Given the description of an element on the screen output the (x, y) to click on. 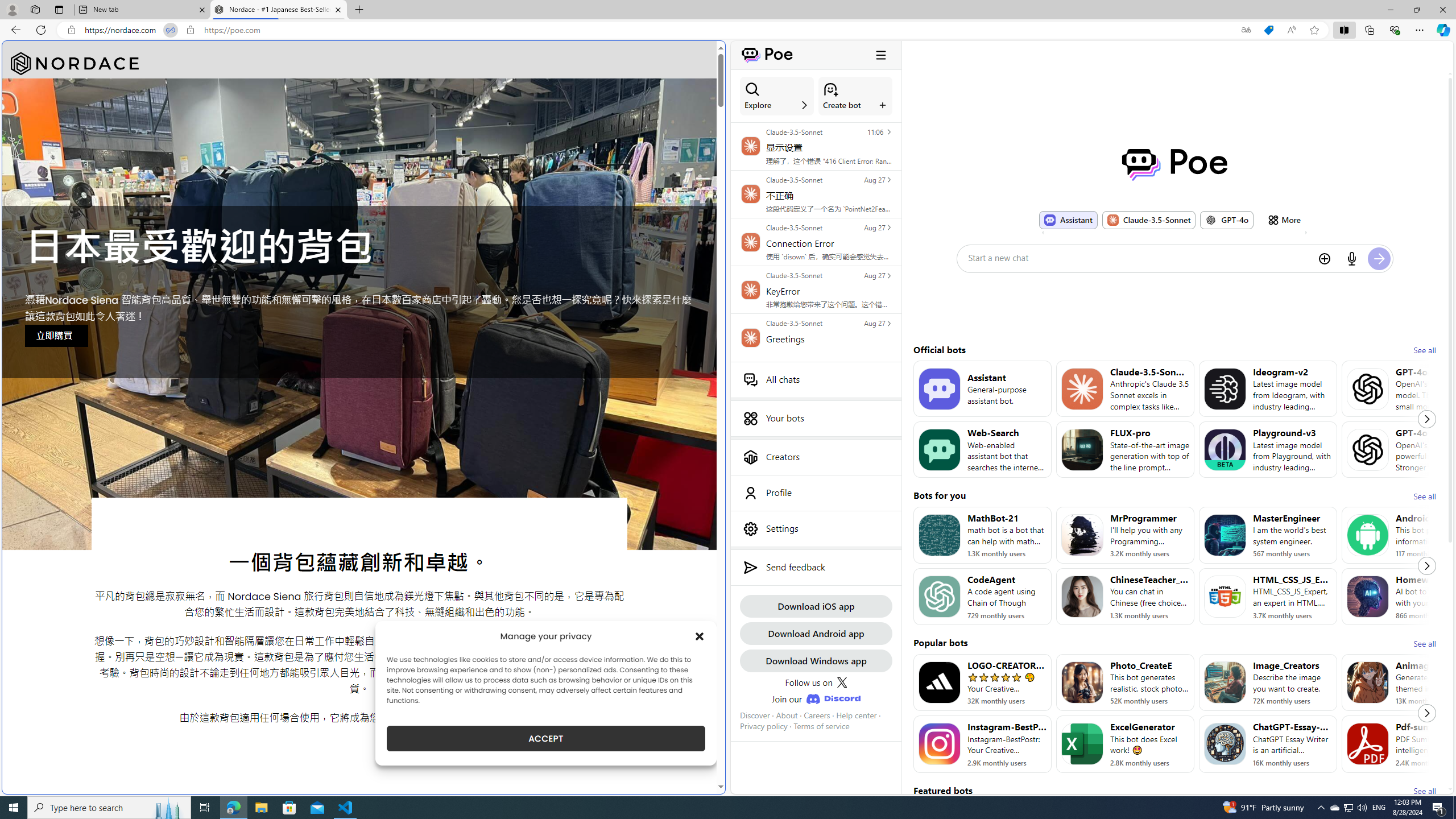
Privacy policy (763, 726)
Creators (815, 456)
Join our (815, 698)
Bot image for Web-Search (938, 449)
Download Windows app (815, 660)
Explore (776, 95)
Start a new chat (1138, 257)
